Given the description of an element on the screen output the (x, y) to click on. 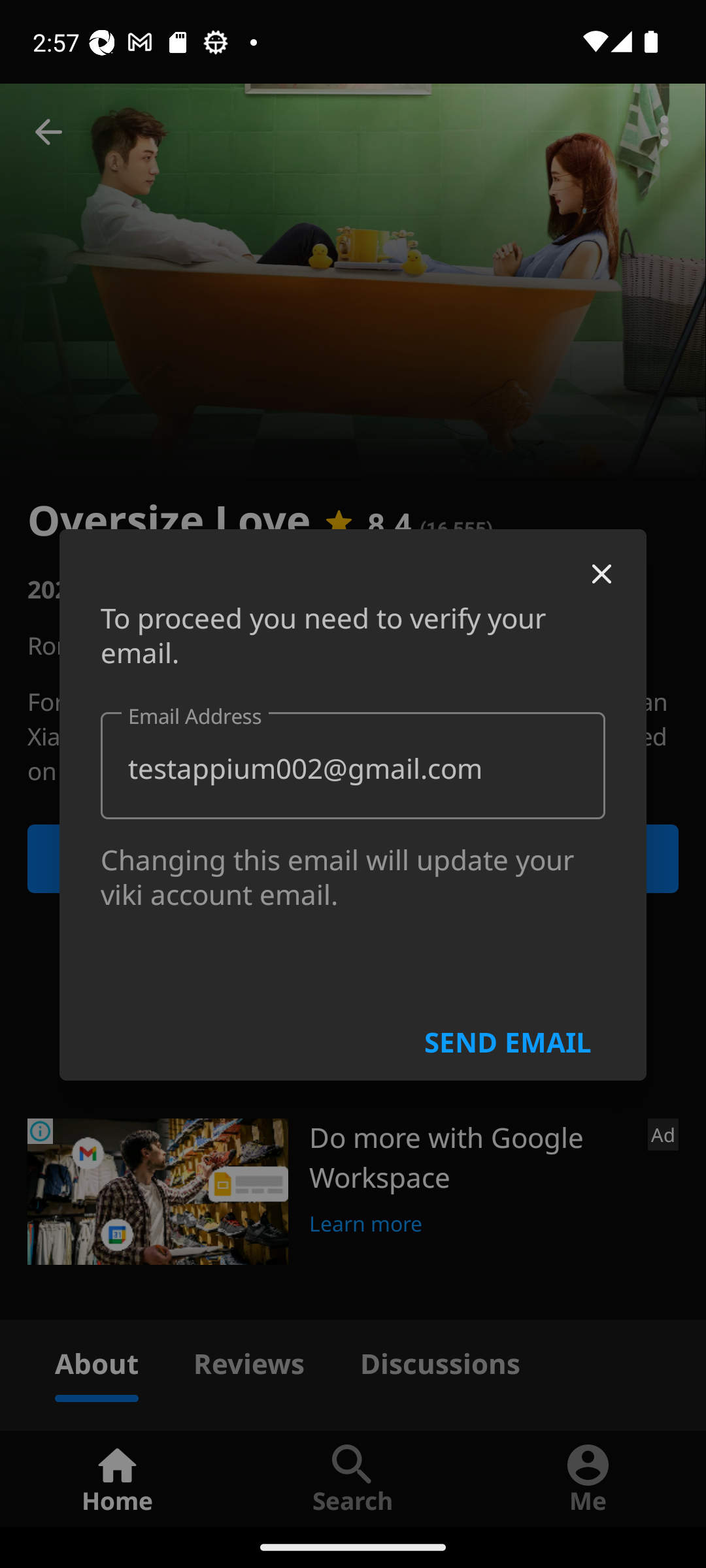
testappium002@gmail.com (352, 764)
SEND EMAIL (507, 1039)
